Given the description of an element on the screen output the (x, y) to click on. 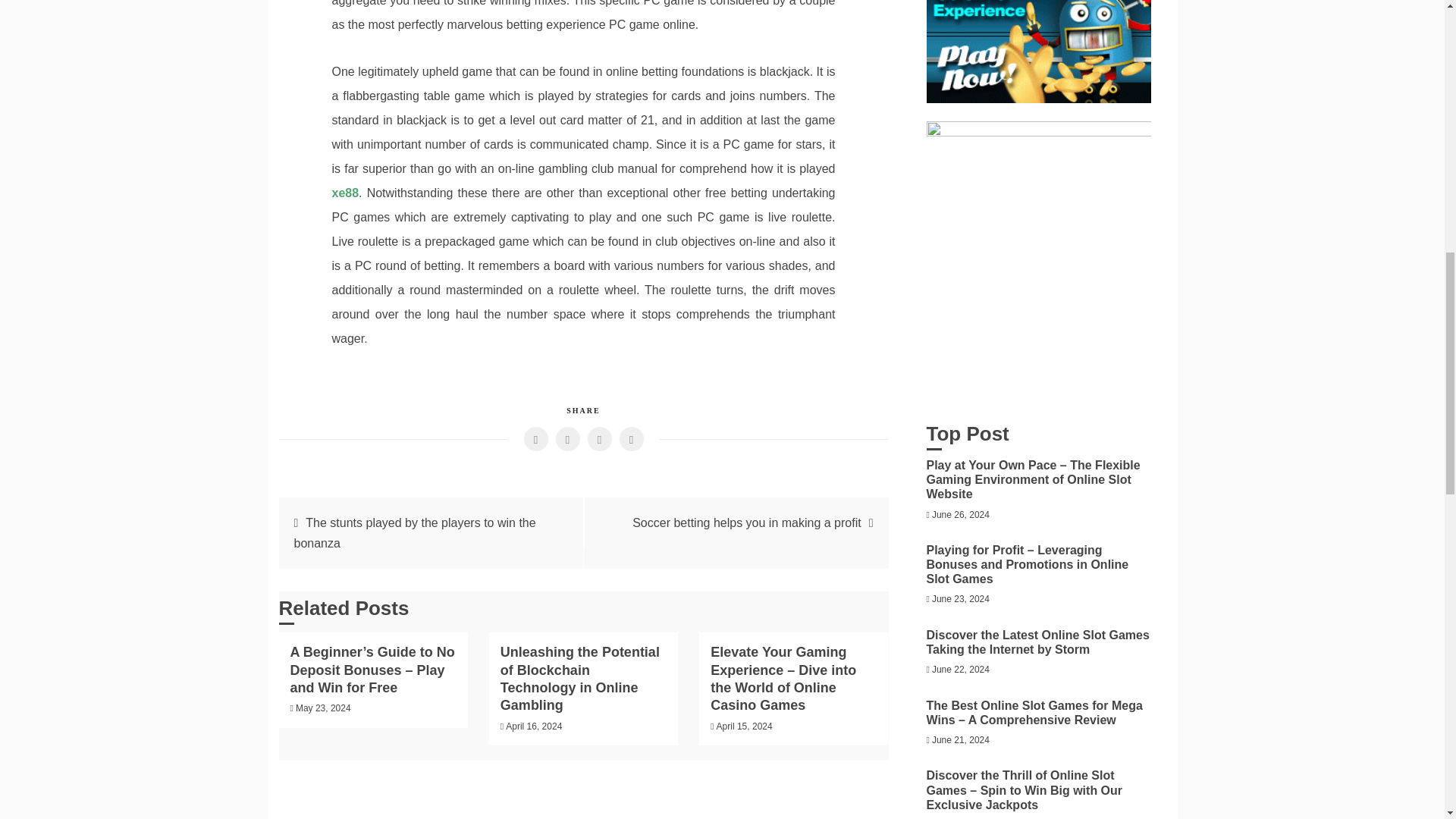
The stunts played by the players to win the bonanza (414, 532)
April 15, 2024 (744, 726)
xe88 (345, 192)
June 26, 2024 (960, 514)
June 23, 2024 (960, 598)
April 16, 2024 (533, 726)
May 23, 2024 (322, 707)
Soccer betting helps you in making a profit (746, 522)
